Given the description of an element on the screen output the (x, y) to click on. 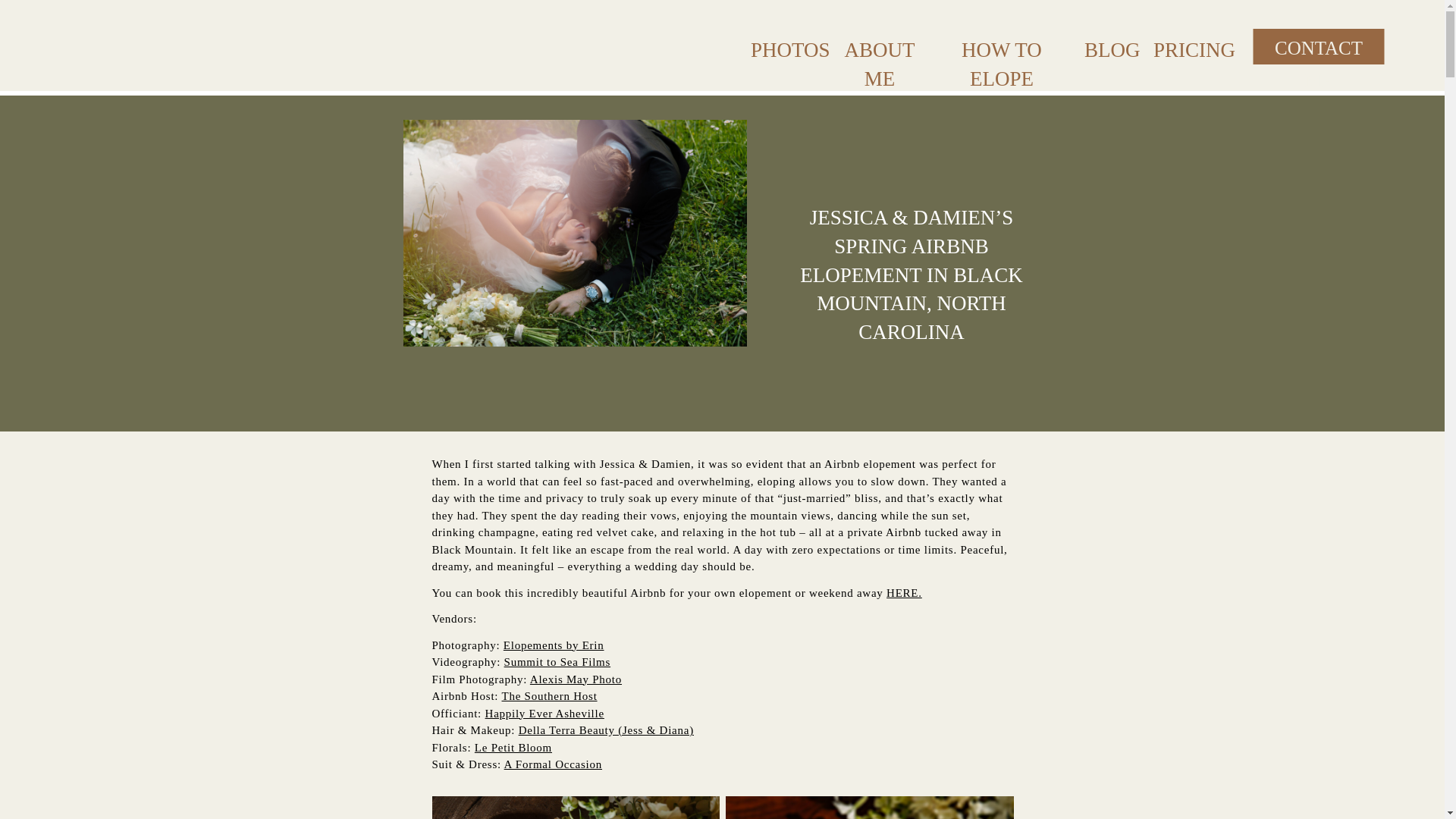
Happily Ever Asheville (544, 712)
ABOUT ME (880, 46)
The Southern Host (548, 695)
Summit to Sea Films (557, 662)
PRICING (1186, 46)
HERE. (903, 592)
Alexis May Photo (575, 679)
PHOTOS (783, 46)
A Formal Occasion (552, 764)
HOW TO ELOPE (1001, 46)
